Given the description of an element on the screen output the (x, y) to click on. 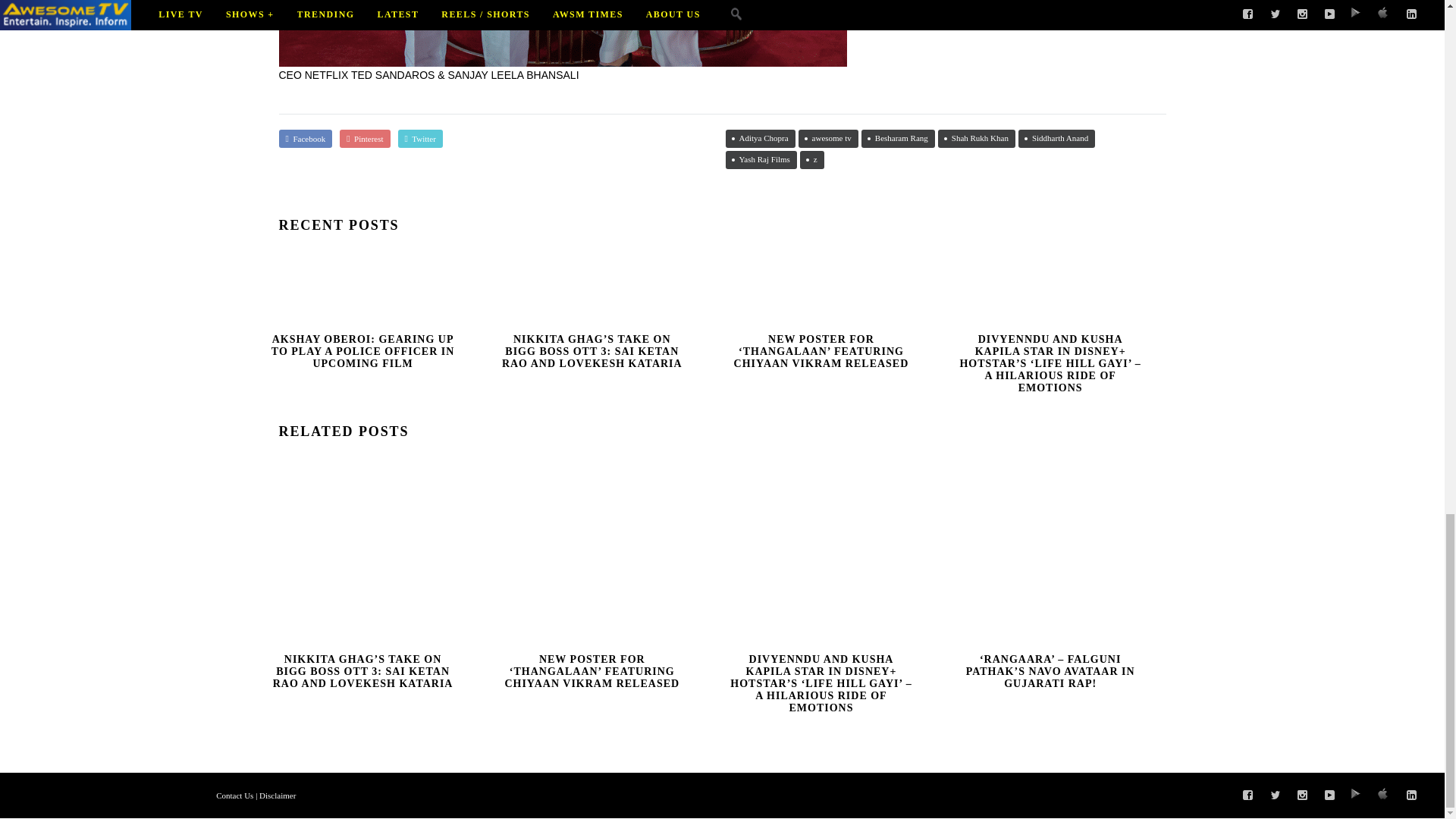
Twitter (1275, 795)
Youtube (1330, 795)
Instagram (1302, 795)
Vimeo (1357, 795)
Linked In (1412, 795)
Facebook (1247, 795)
  Pinterest (364, 138)
  Facebook (306, 138)
Delicious (1384, 795)
